Given the description of an element on the screen output the (x, y) to click on. 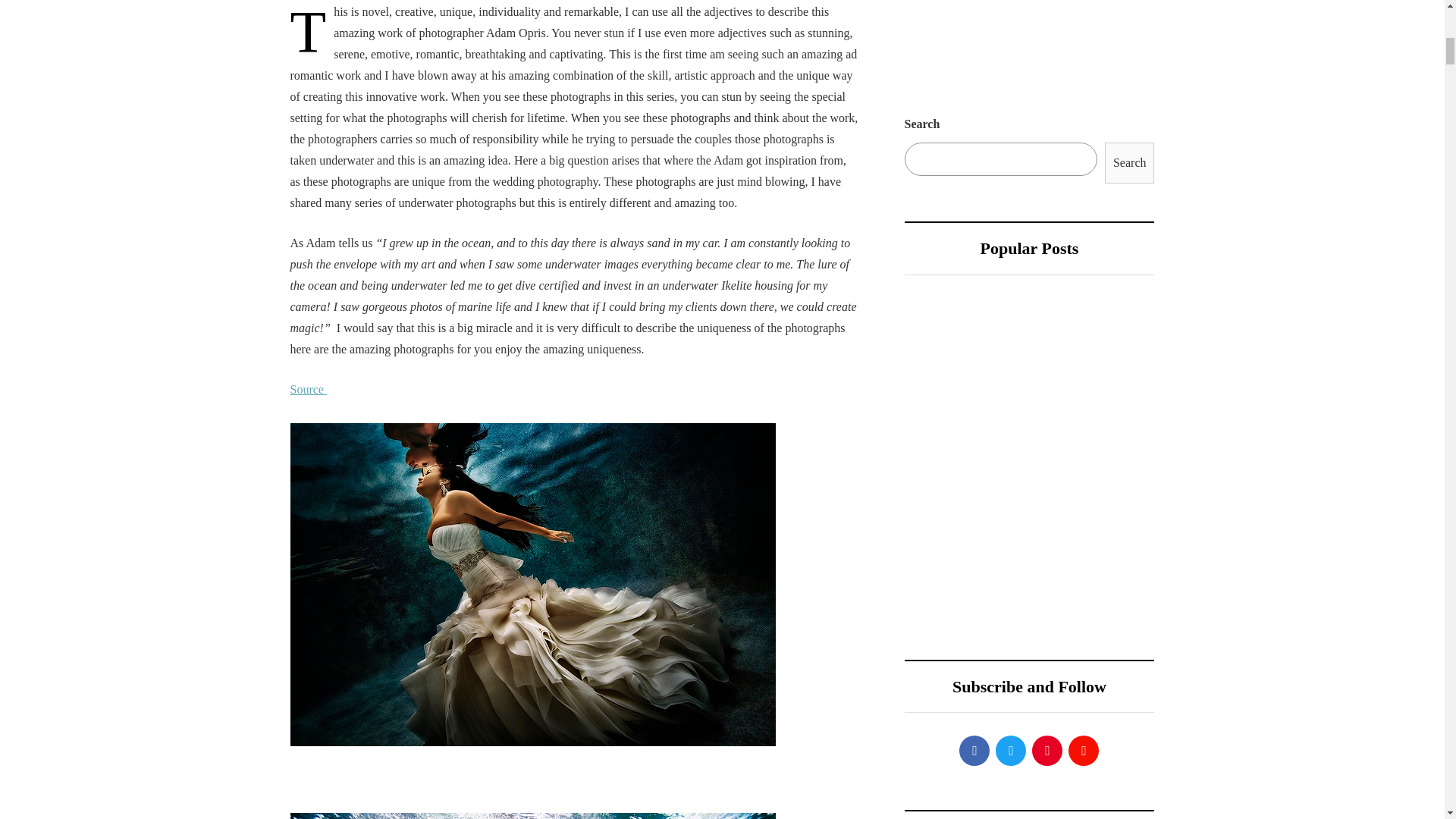
Source  (307, 389)
